Given the description of an element on the screen output the (x, y) to click on. 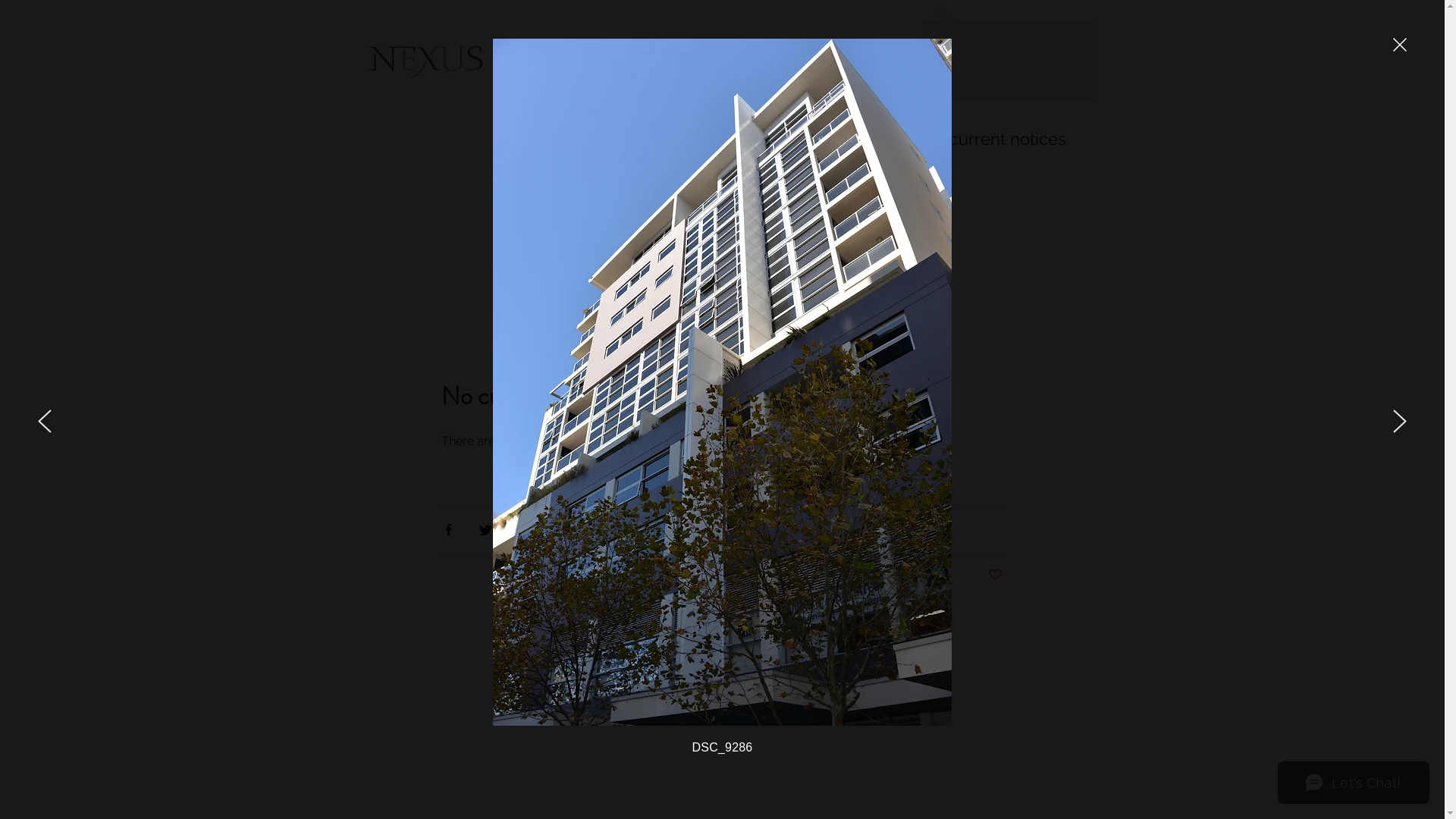
Management Element type: text (750, 61)
No current notices Element type: text (1001, 138)
Information Element type: text (658, 61)
Post not marked as liked Element type: text (994, 575)
About Element type: text (584, 61)
RETURN TO NOTICEBOARD Element type: text (721, 267)
